Given the description of an element on the screen output the (x, y) to click on. 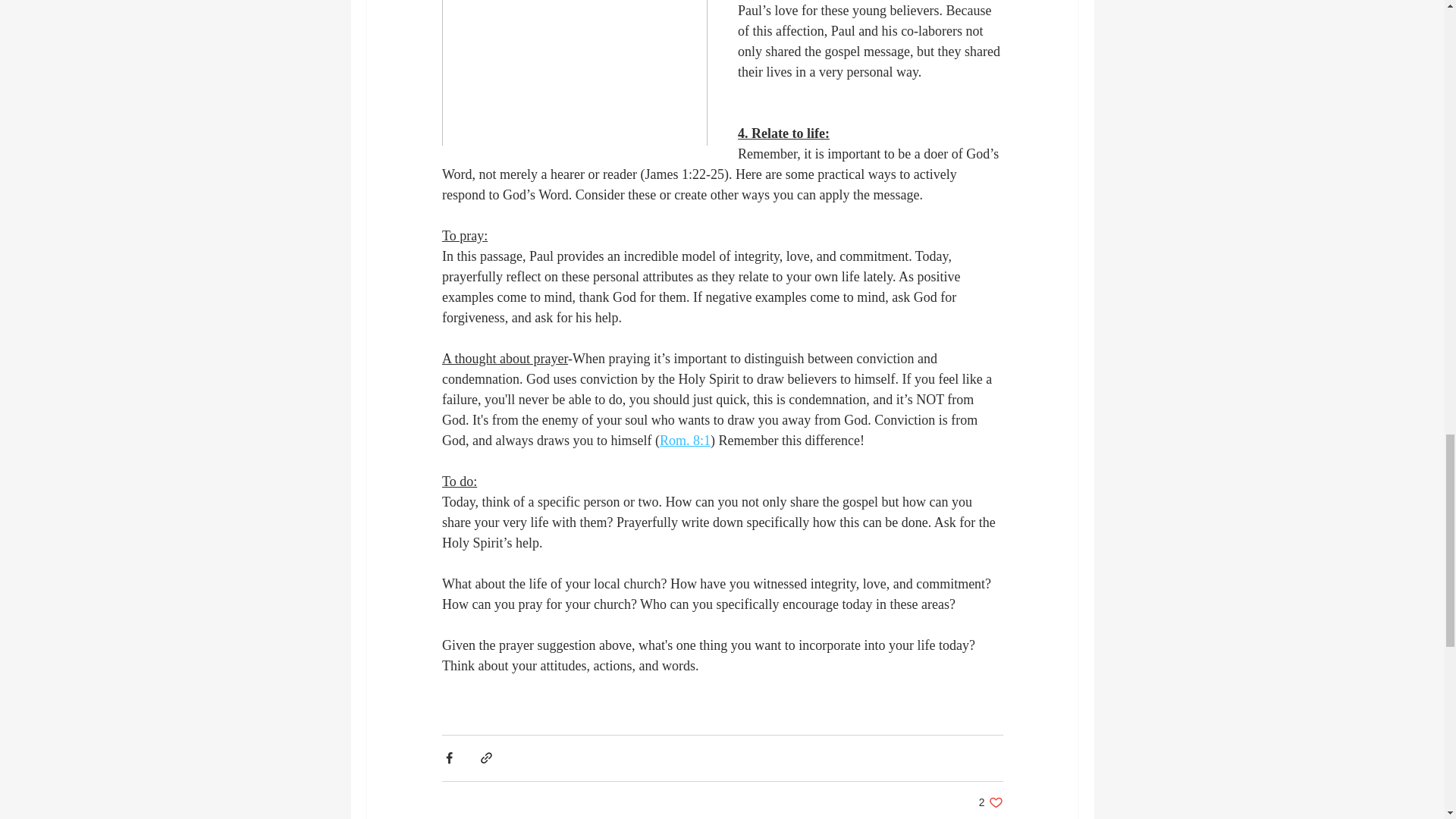
Rom. 8:1 (990, 802)
